Given the description of an element on the screen output the (x, y) to click on. 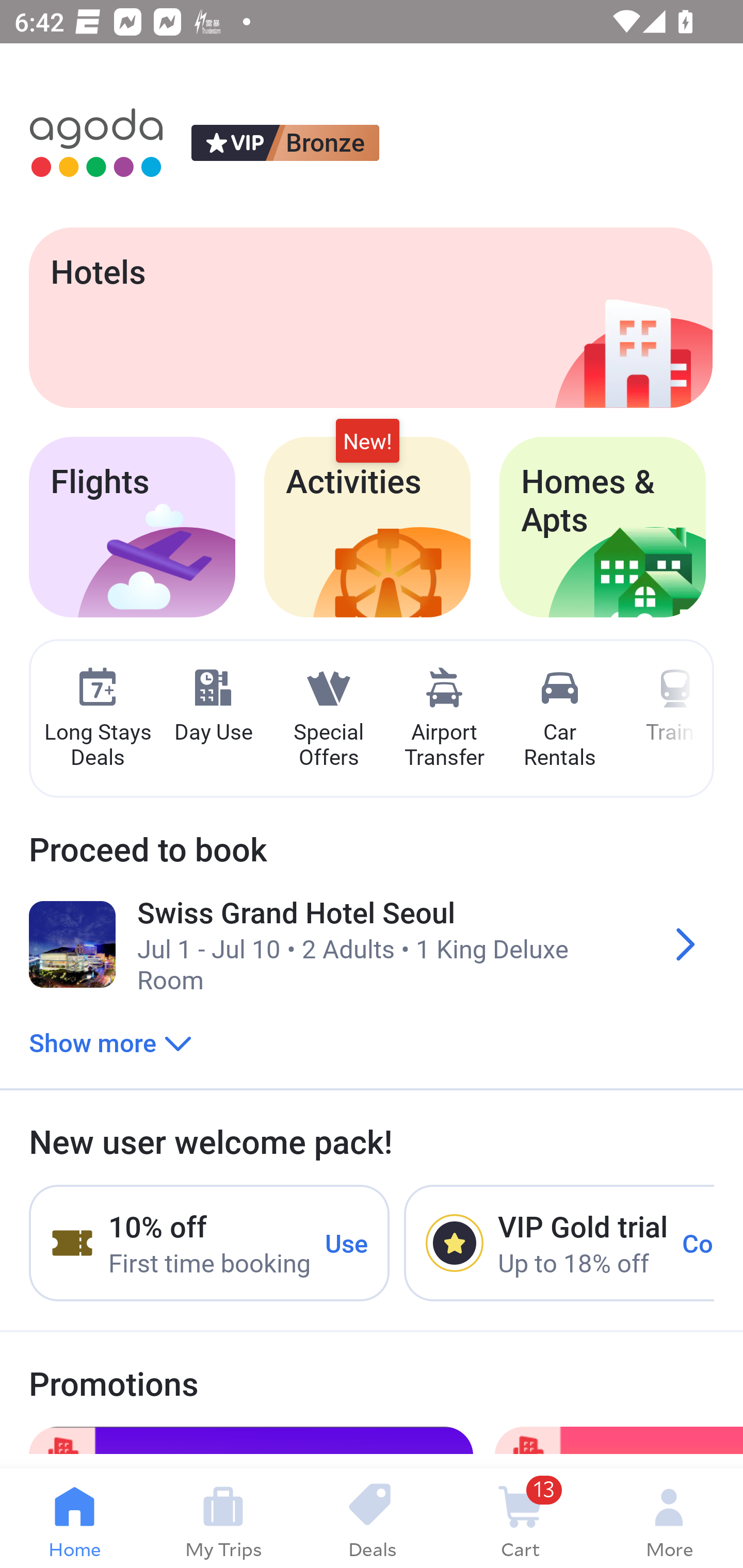
Hotels (370, 317)
New! (367, 441)
Flights (131, 527)
Activities (367, 527)
Homes & Apts (602, 527)
Day Use (213, 706)
Long Stays Deals (97, 718)
Special Offers (328, 718)
Airport Transfer (444, 718)
Car Rentals (559, 718)
Show more (110, 1041)
Use (346, 1242)
Home (74, 1518)
My Trips (222, 1518)
Deals (371, 1518)
13 Cart (519, 1518)
More (668, 1518)
